Given the description of an element on the screen output the (x, y) to click on. 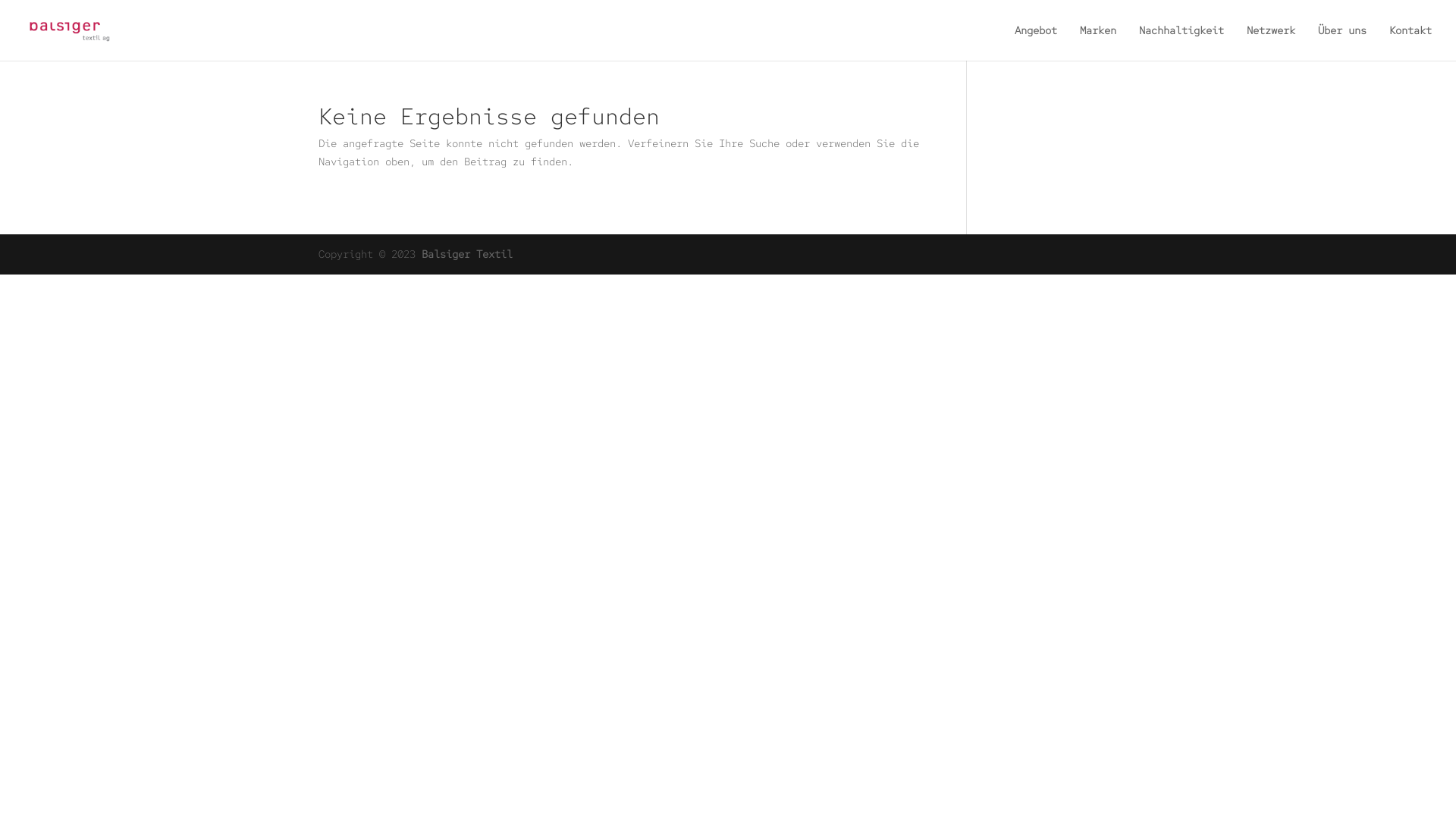
Kontakt Element type: text (1410, 42)
Balsiger Textil Element type: text (466, 253)
Marken Element type: text (1097, 42)
Netzwerk Element type: text (1270, 42)
Angebot Element type: text (1035, 42)
Nachhaltigkeit Element type: text (1181, 42)
